Given the description of an element on the screen output the (x, y) to click on. 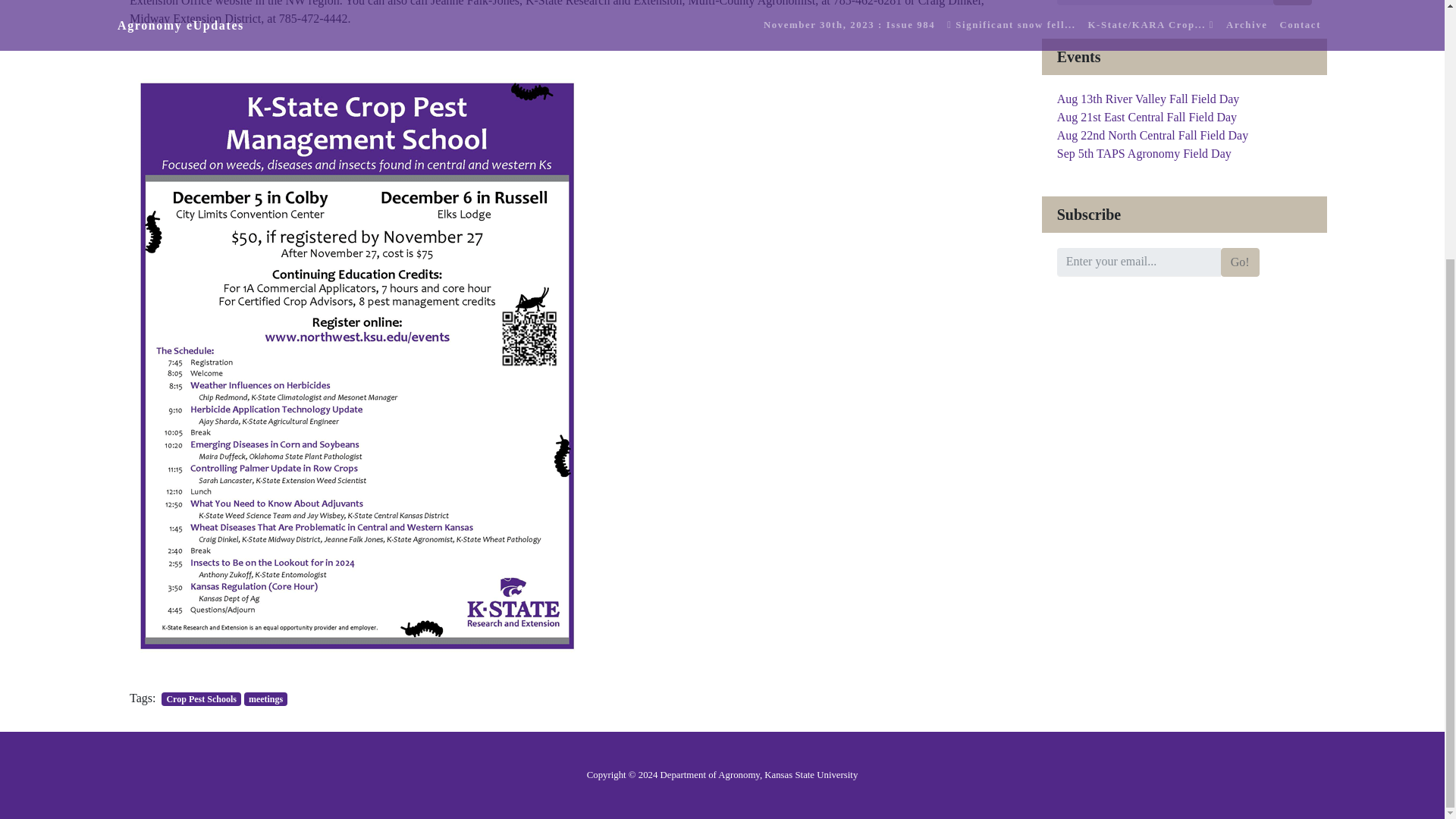
Go! (1240, 262)
Aug 21st East Central Fall Field Day (1146, 116)
Aug 22nd North Central Fall Field Day (1152, 134)
meetings (265, 698)
Go! (1291, 2)
Aug 13th River Valley Fall Field Day (1148, 98)
Sep 5th TAPS Agronomy Field Day (1144, 153)
Crop Pest Schools (200, 698)
